Given the description of an element on the screen output the (x, y) to click on. 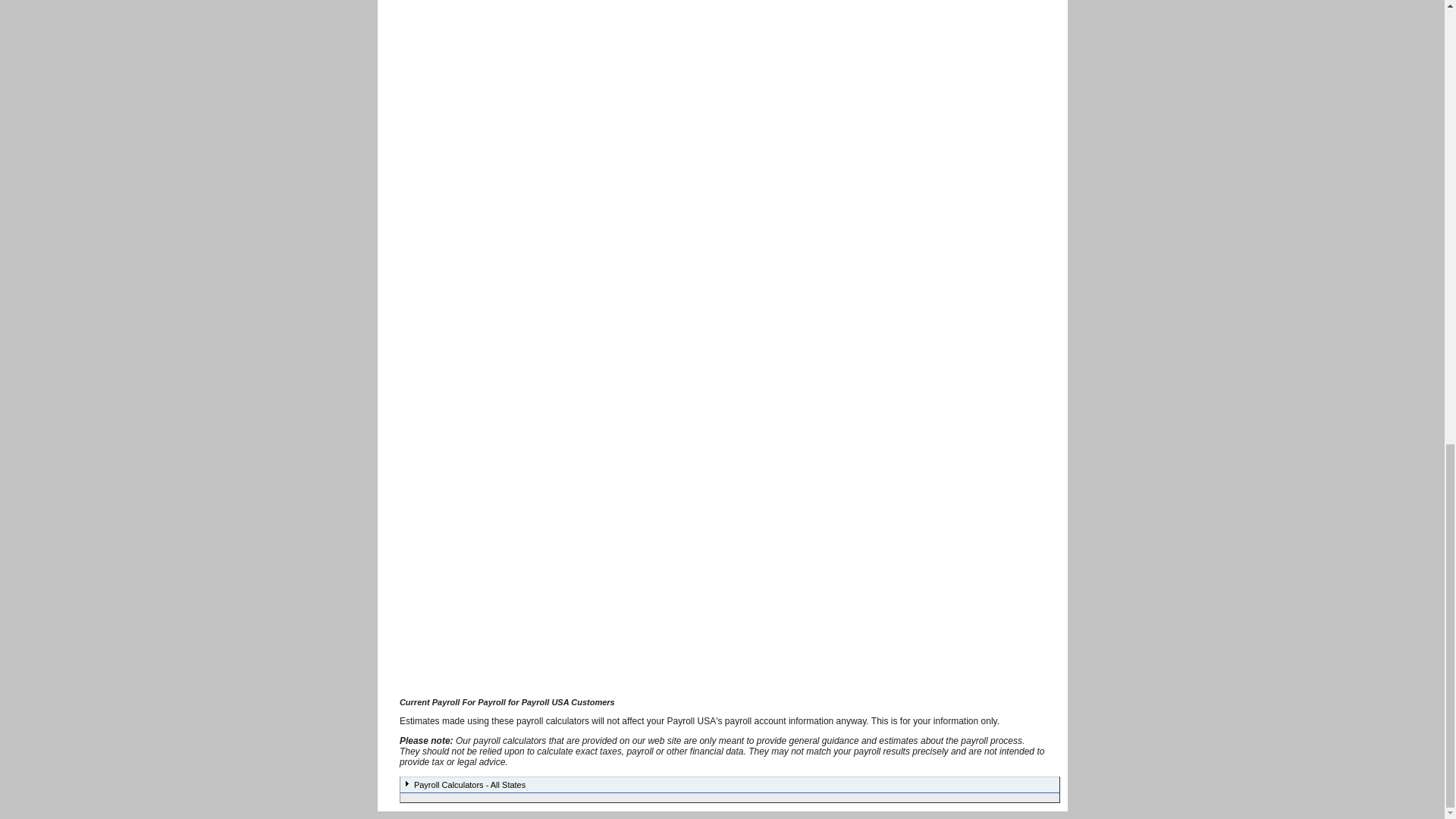
Advertisement (444, 104)
Advertisement (444, 461)
Payroll Calculators - All States (729, 784)
